Given the description of an element on the screen output the (x, y) to click on. 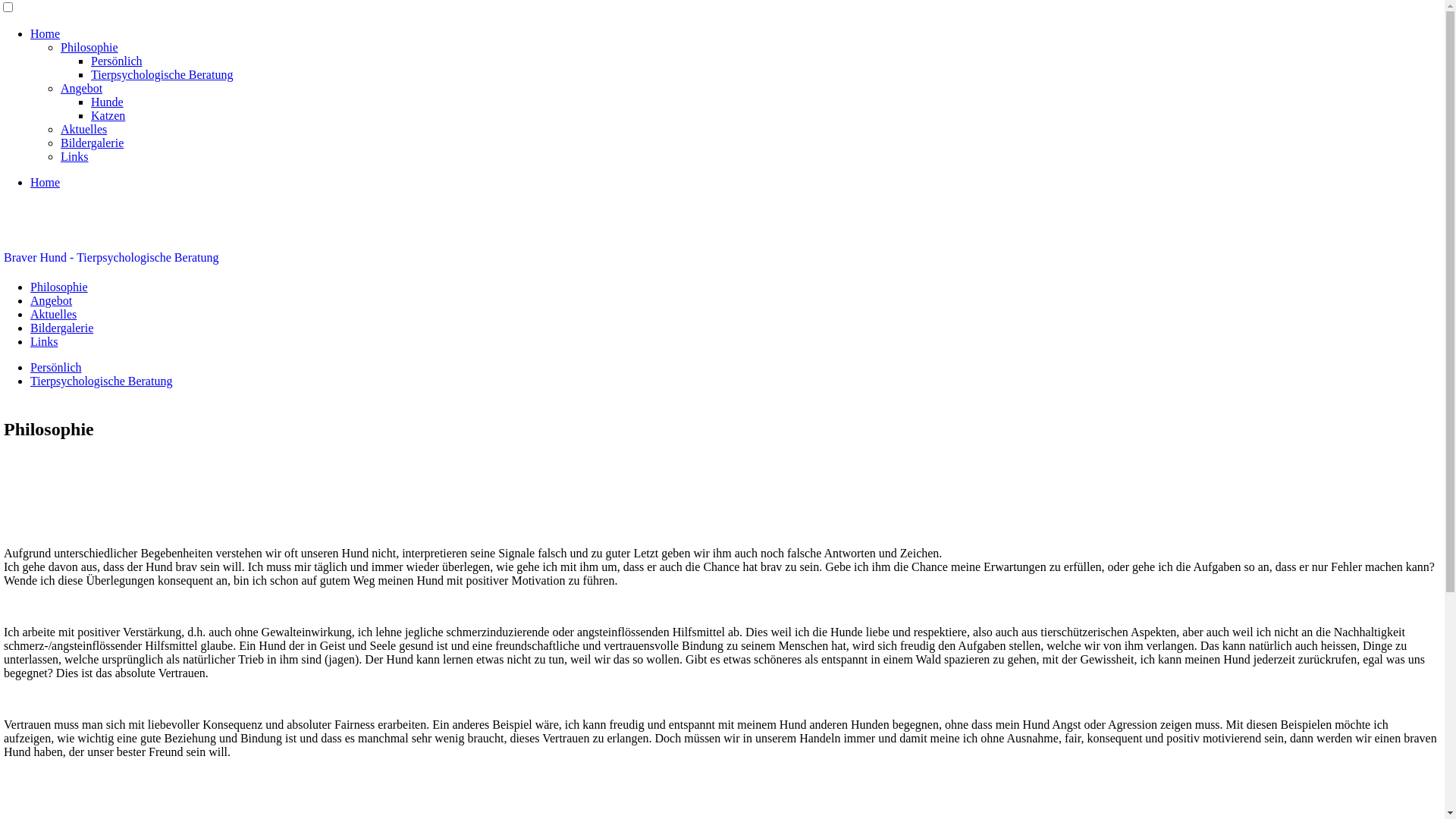
Bildergalerie Element type: text (91, 142)
Home Element type: text (44, 33)
Aktuelles Element type: text (83, 128)
Angebot Element type: text (81, 87)
Braver Hund - Tierpsychologische Beratung Element type: text (111, 257)
Philosophie Element type: text (58, 286)
Angebot Element type: text (51, 300)
Hunde Element type: text (107, 101)
Bildergalerie Element type: text (61, 327)
Links Element type: text (43, 341)
Home Element type: text (44, 181)
Links Element type: text (73, 156)
Katzen Element type: text (108, 115)
Philosophie Element type: text (89, 46)
Tierpsychologische Beratung Element type: text (161, 74)
Aktuelles Element type: text (53, 313)
Tierpsychologische Beratung Element type: text (101, 380)
